Given the description of an element on the screen output the (x, y) to click on. 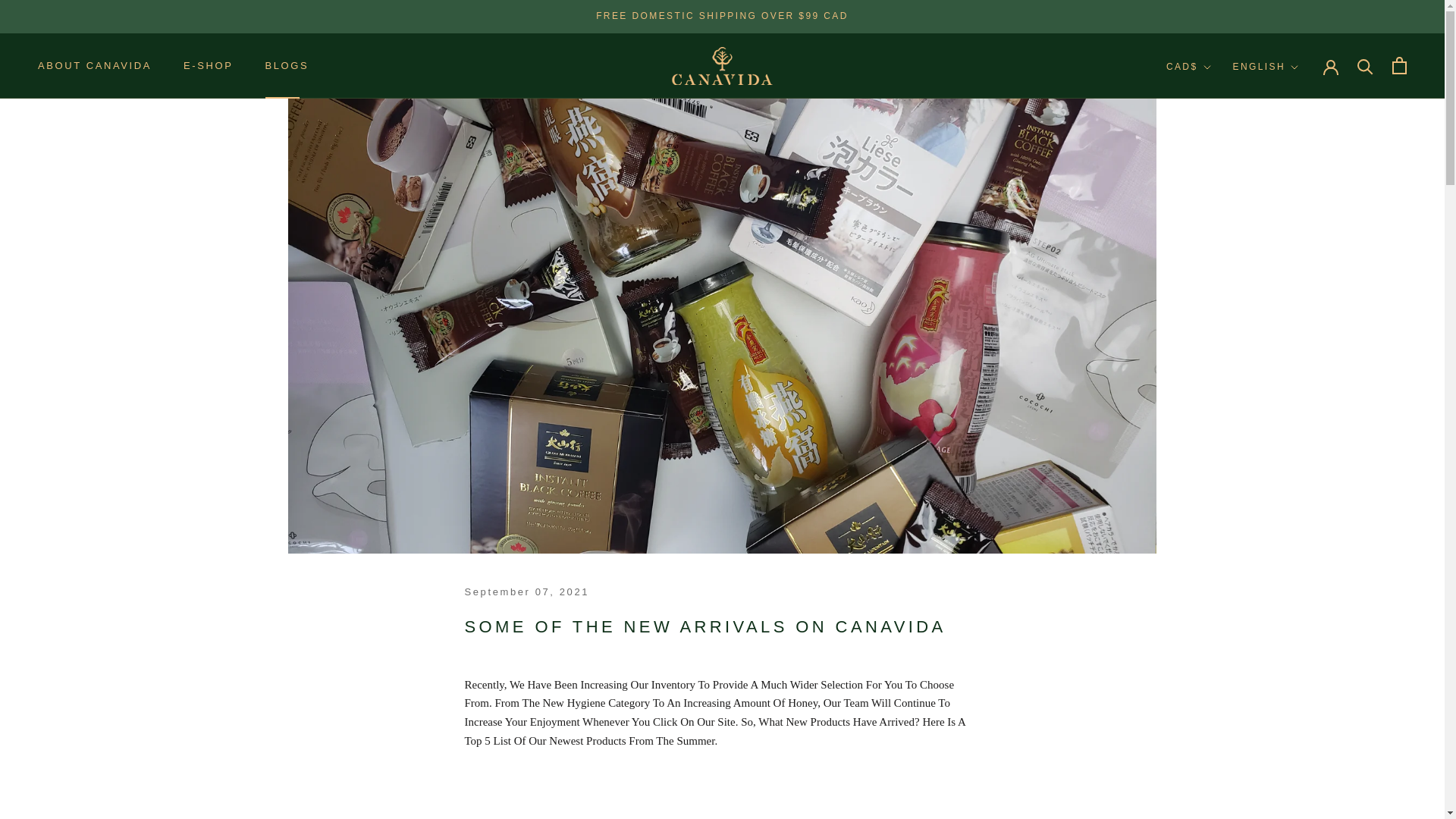
ABOUT CANAVIDA (94, 65)
E-SHOP (207, 65)
